Given the description of an element on the screen output the (x, y) to click on. 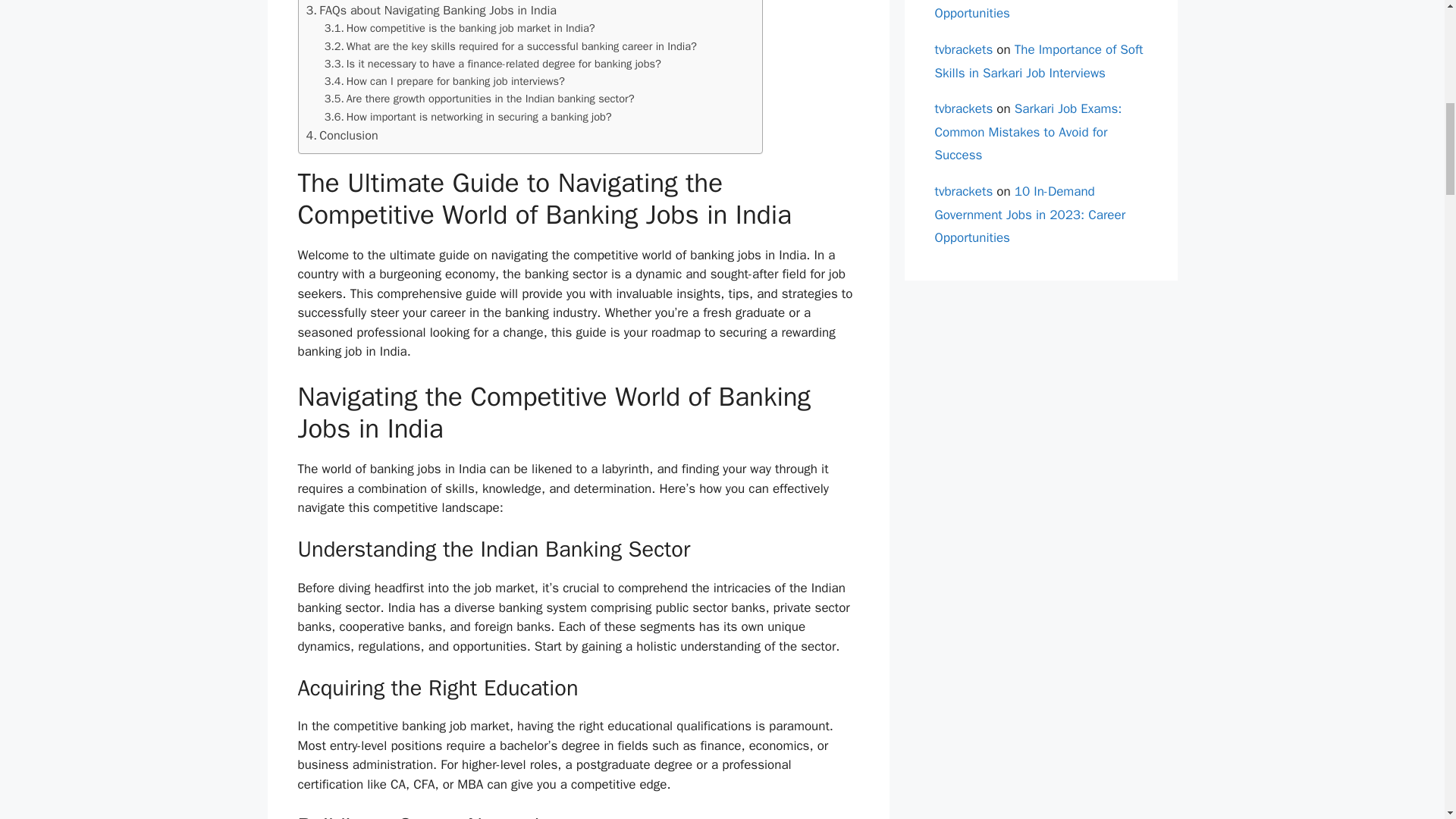
How important is networking in securing a banking job? (467, 117)
How can I prepare for banking job interviews? (444, 81)
FAQs about Navigating Banking Jobs in India (430, 10)
FAQs about Navigating Banking Jobs in India (430, 10)
How competitive is the banking job market in India? (459, 27)
Are there growth opportunities in the Indian banking sector? (479, 98)
Conclusion (341, 135)
How competitive is the banking job market in India? (459, 27)
